Given the description of an element on the screen output the (x, y) to click on. 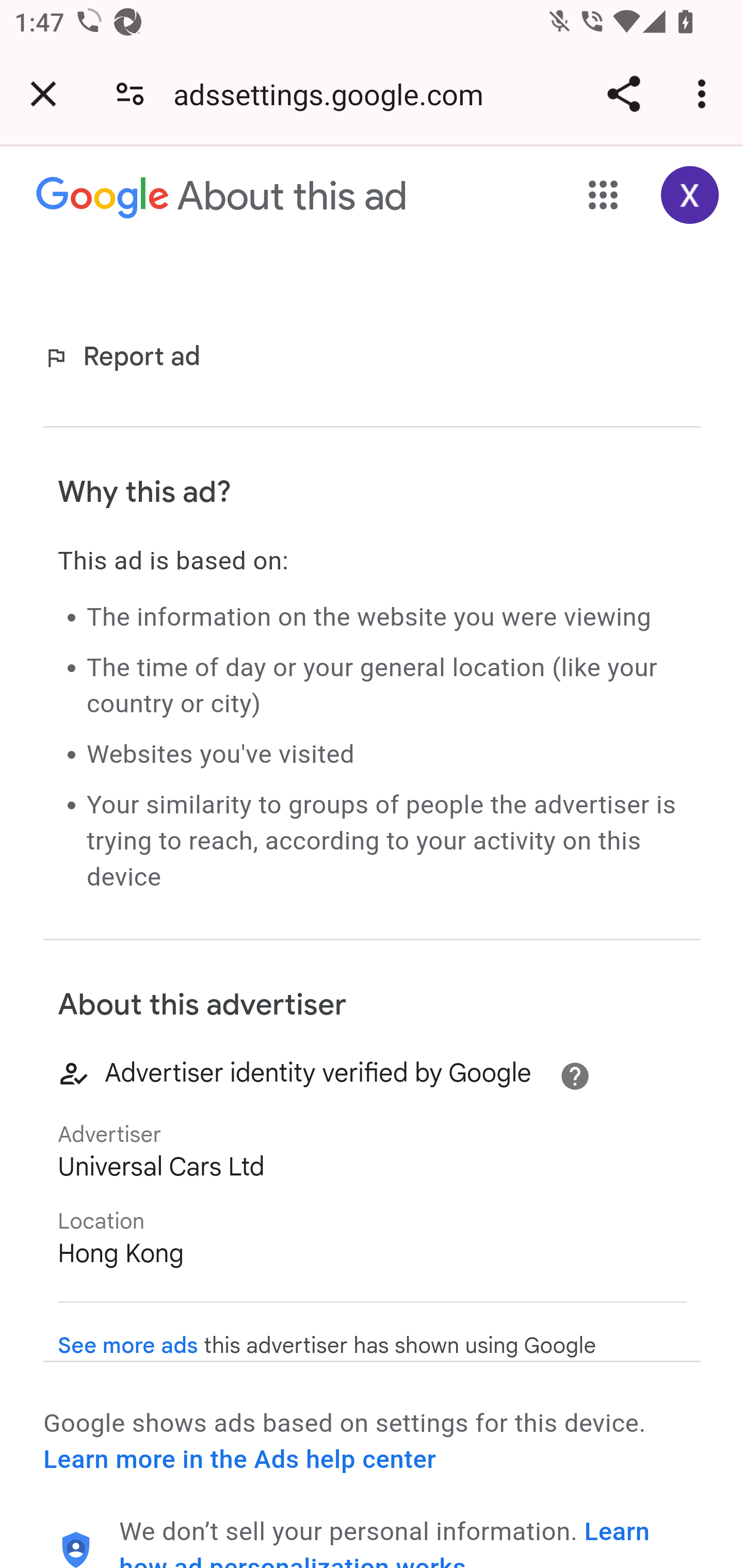
Close tab (43, 93)
Share (623, 93)
Customize and control Google Chrome (705, 93)
Connection is secure (129, 93)
adssettings.google.com (335, 93)
Google apps (603, 195)
Google Account: Xiaoran (zxrappiumtest@gmail.com) (690, 195)
Report ad (opens in new tab) Report ad (126, 357)
See more ads (opens in new tab) See more ads (127, 1345)
Learn more in the Ads help center (239, 1458)
Learn how ad personalization works (384, 1542)
